Given the description of an element on the screen output the (x, y) to click on. 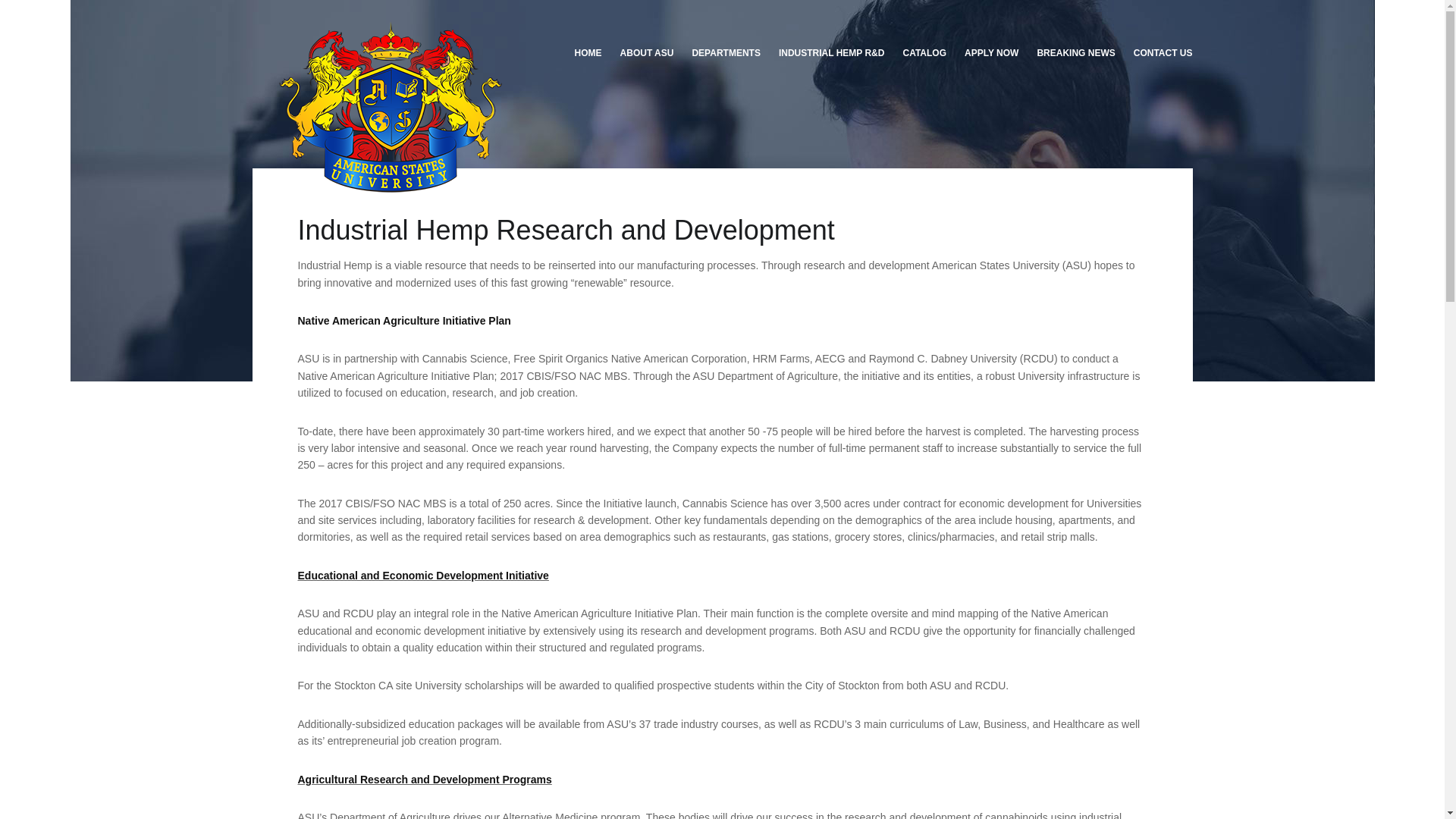
CONTACT US (1158, 53)
CATALOG (924, 53)
DEPARTMENTS (725, 53)
BREAKING NEWS (1075, 53)
APPLY NOW (991, 53)
ABOUT ASU (646, 53)
